Given the description of an element on the screen output the (x, y) to click on. 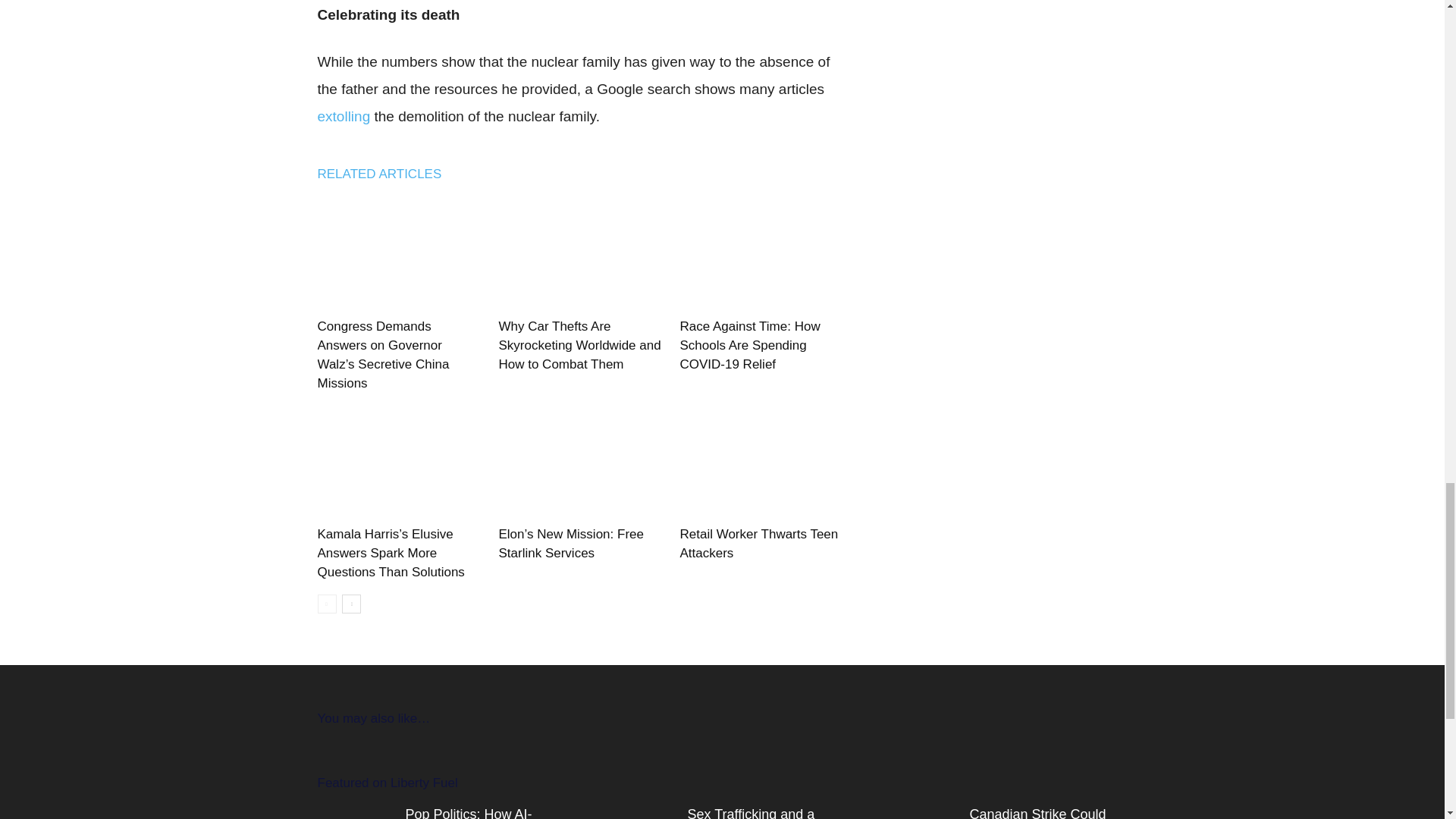
RELATED ARTICLES (387, 173)
Race Against Time: How Schools Are Spending COVID-19 Relief (761, 255)
Race Against Time: How Schools Are Spending COVID-19 Relief (749, 345)
Retail Worker Thwarts Teen Attackers (758, 543)
extolling (343, 116)
Race Against Time: How Schools Are Spending COVID-19 Relief (749, 345)
